Given the description of an element on the screen output the (x, y) to click on. 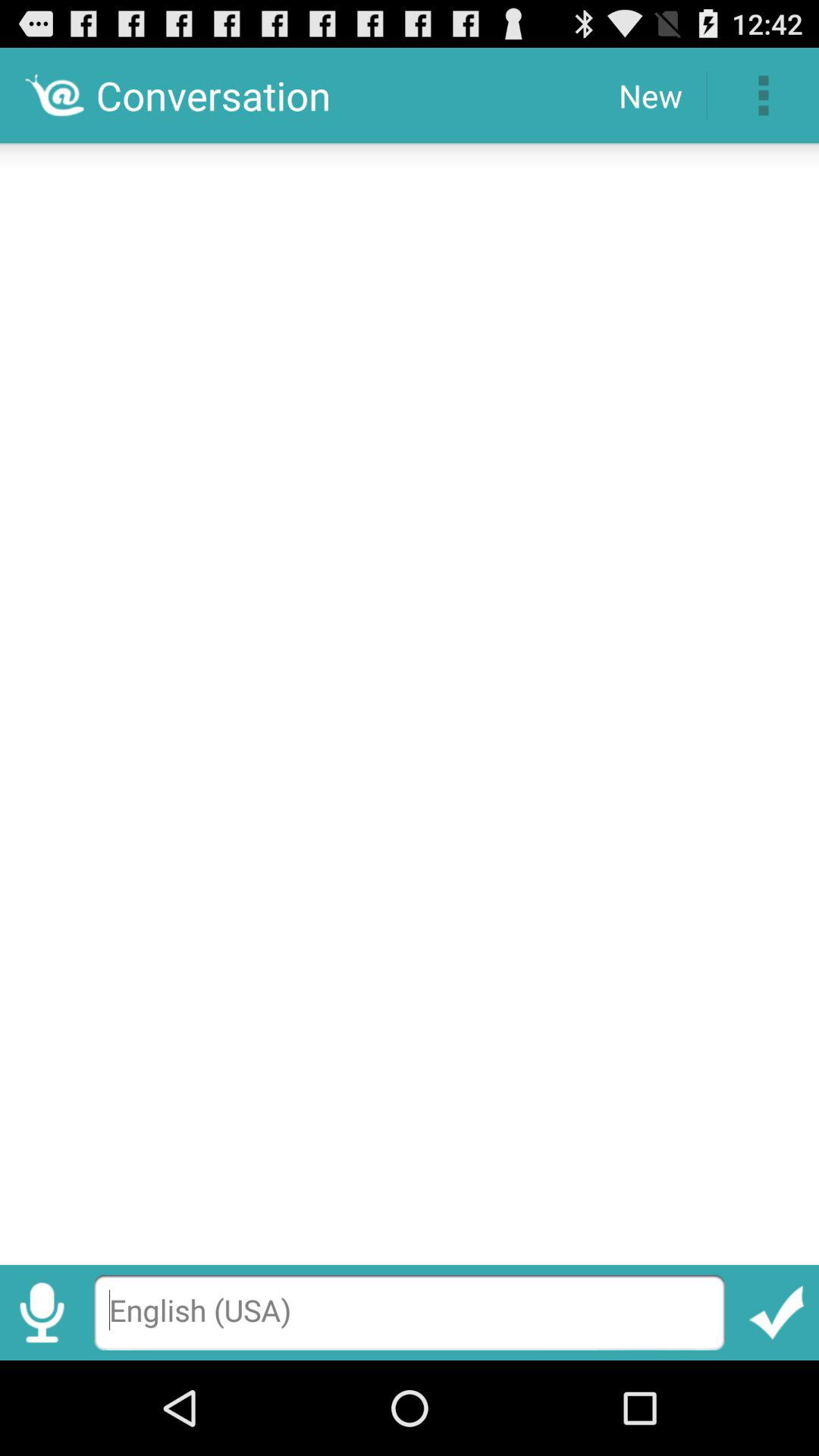
type here (409, 1312)
